Given the description of an element on the screen output the (x, y) to click on. 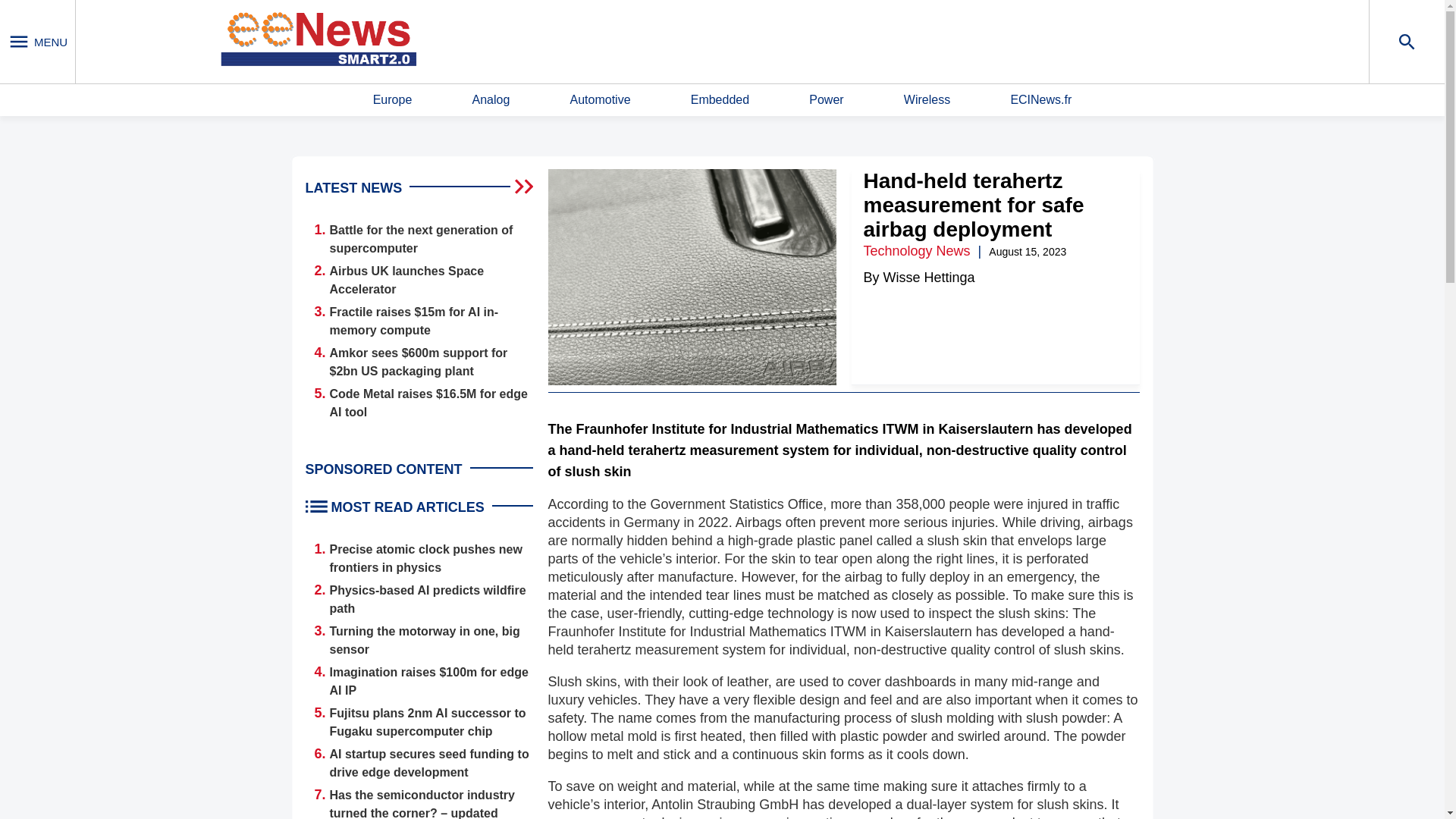
Automotive (599, 99)
Wireless (927, 99)
Embedded (719, 99)
Analog (490, 99)
Europe (392, 99)
Power (826, 99)
ECINews.fr (1040, 99)
